Given the description of an element on the screen output the (x, y) to click on. 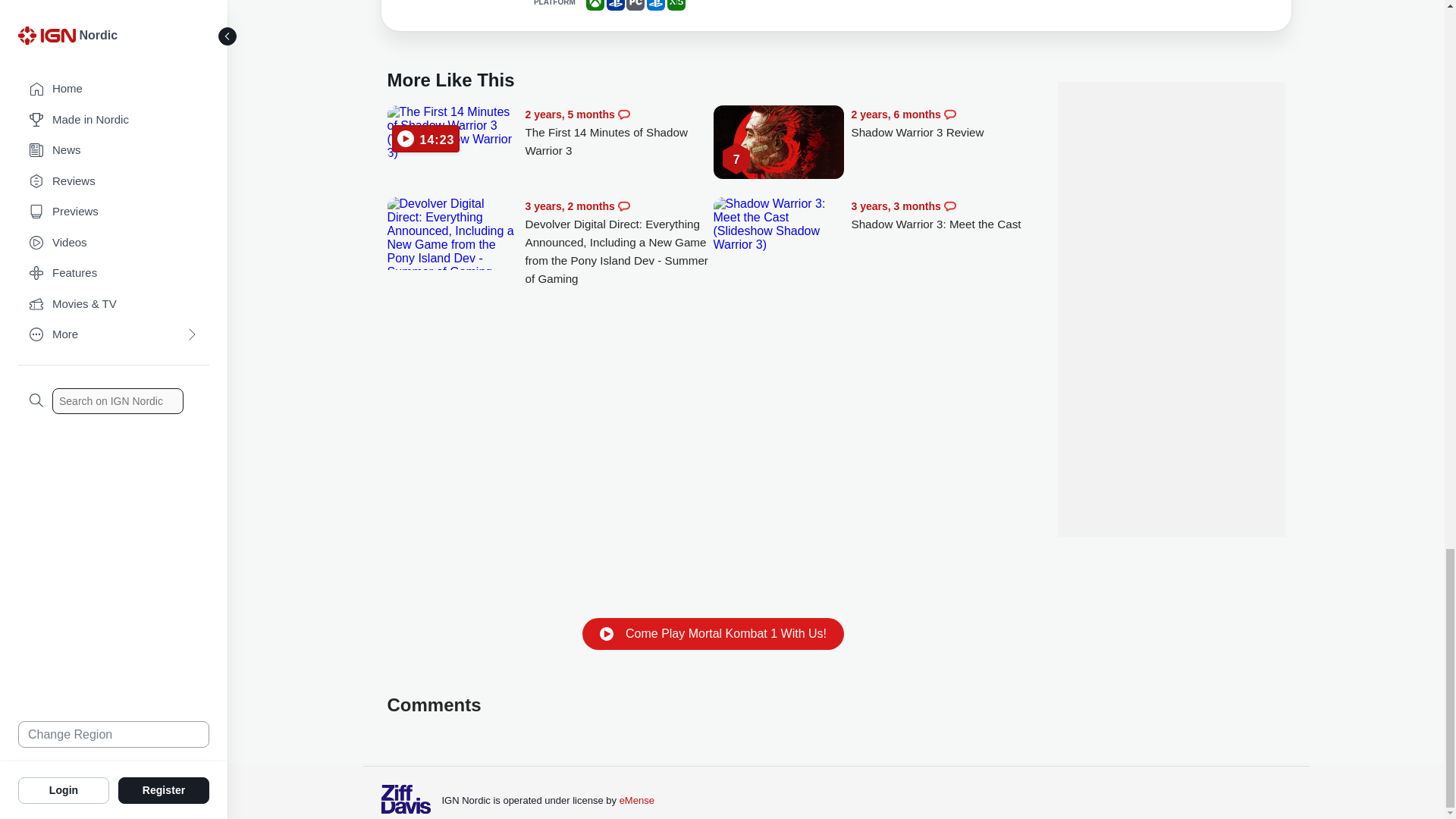
Shadow Warrior 3: Meet the Cast (778, 224)
XBOXSERIES (675, 5)
XBOXONE (595, 5)
PS5 (655, 5)
Shadow Warrior 3 Review (944, 123)
The First 14 Minutes of Shadow Warrior 3 (618, 132)
PS4 (615, 5)
The First 14 Minutes of Shadow Warrior 3 (451, 132)
